Given the description of an element on the screen output the (x, y) to click on. 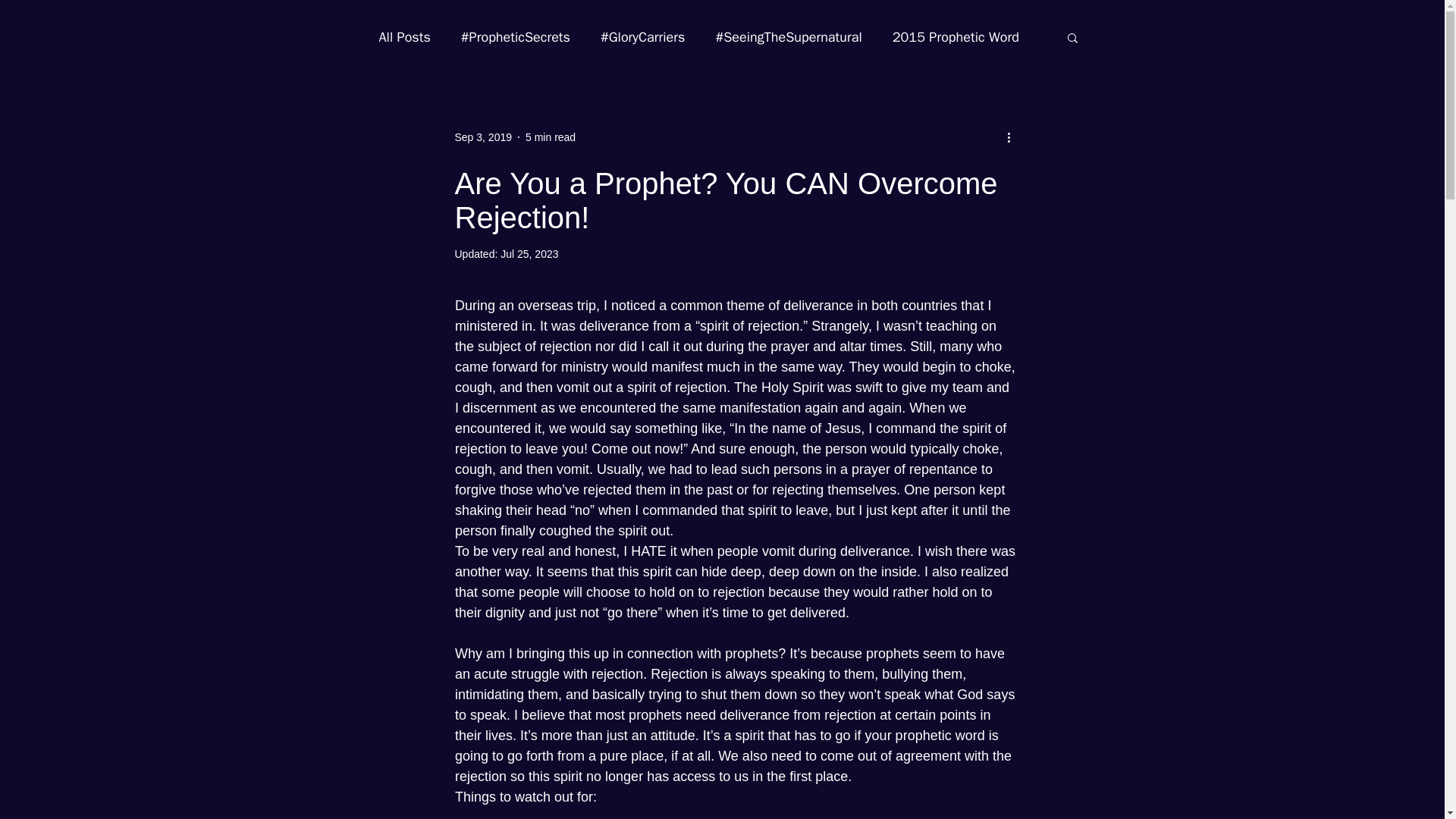
2015 Prophetic Word (955, 36)
All Posts (404, 36)
5 min read (550, 136)
Sep 3, 2019 (483, 136)
Jul 25, 2023 (528, 254)
